Given the description of an element on the screen output the (x, y) to click on. 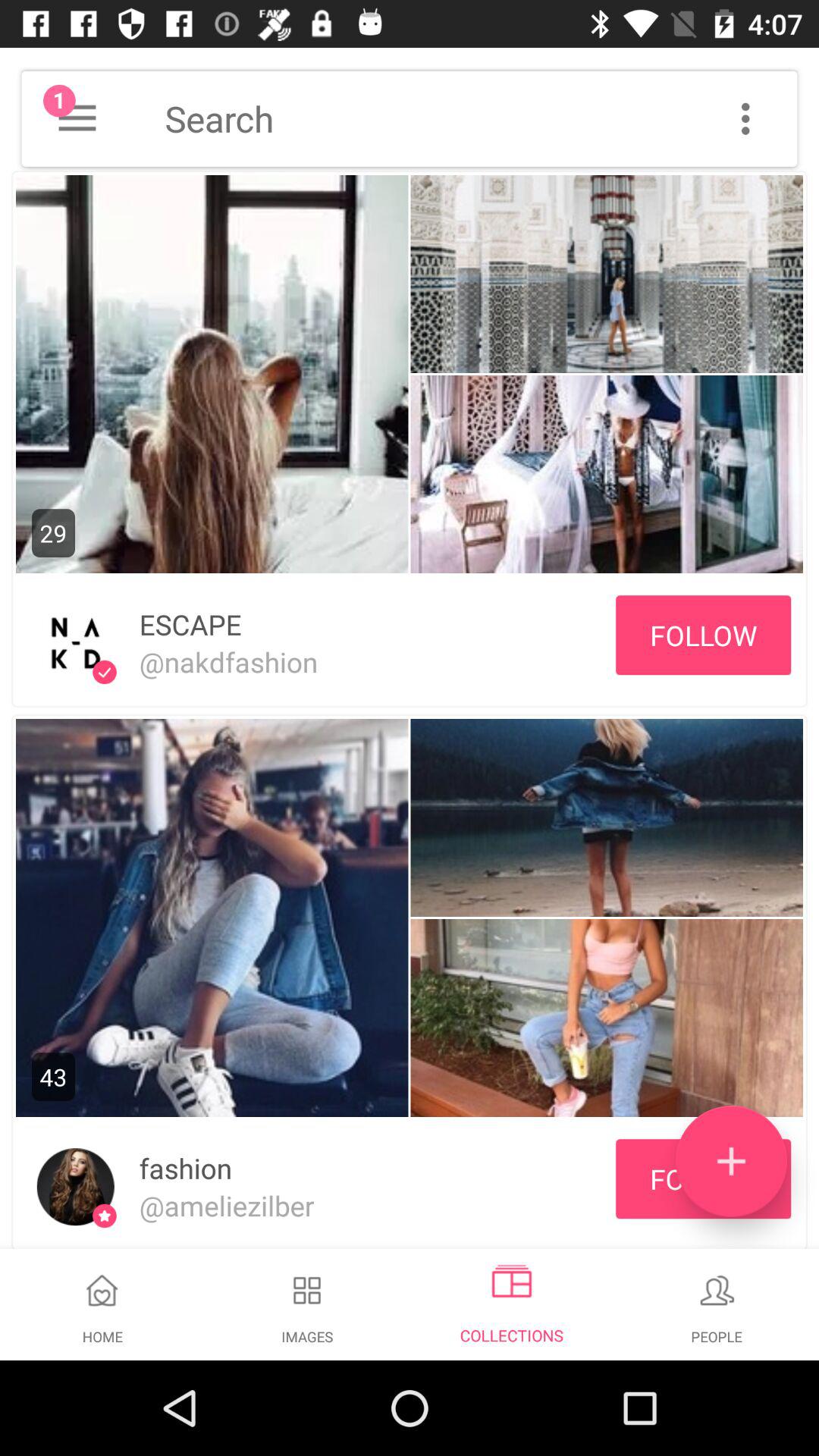
tap the item to the right of fashion icon (731, 1161)
